Given the description of an element on the screen output the (x, y) to click on. 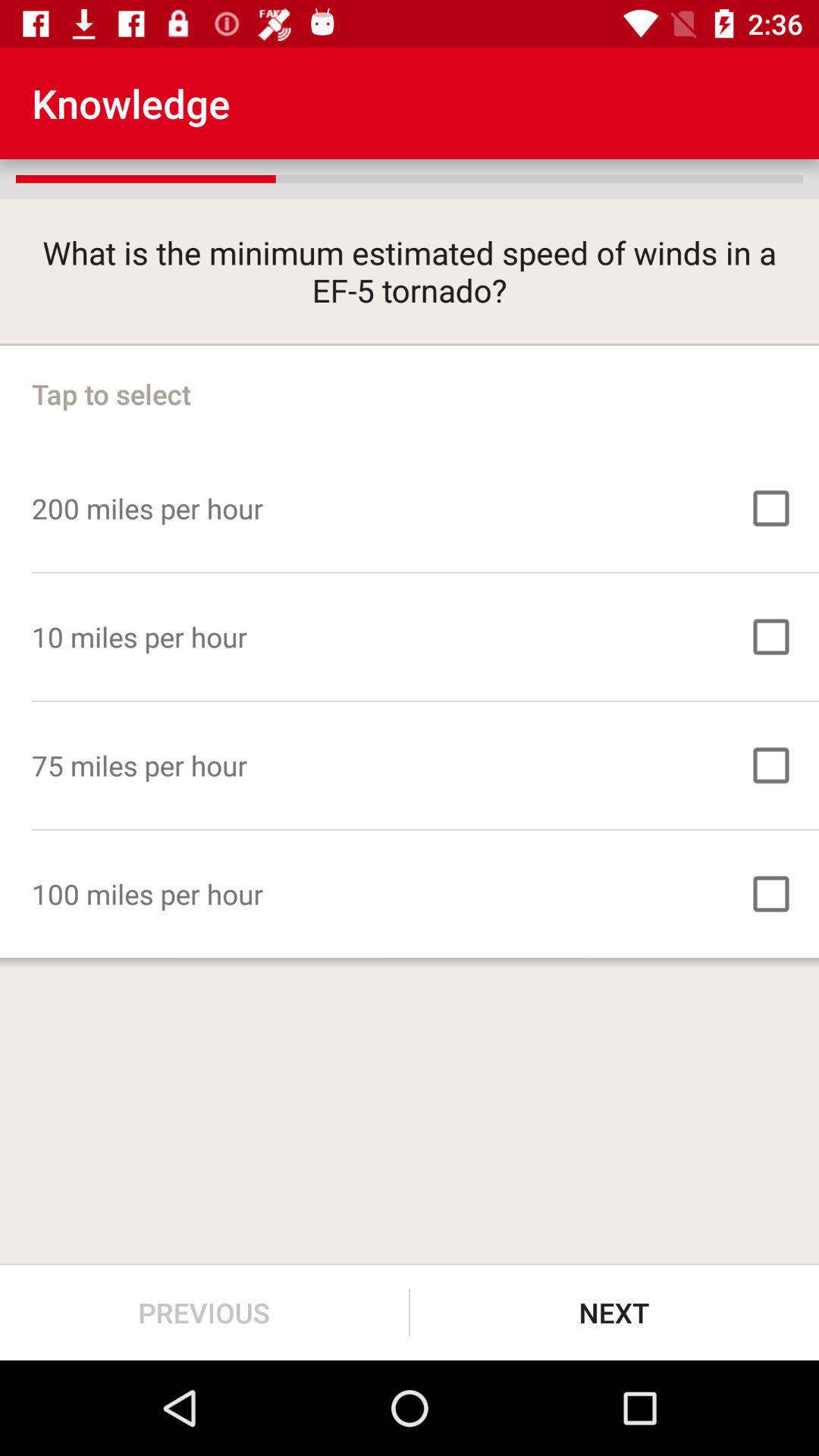
open the next (614, 1312)
